Given the description of an element on the screen output the (x, y) to click on. 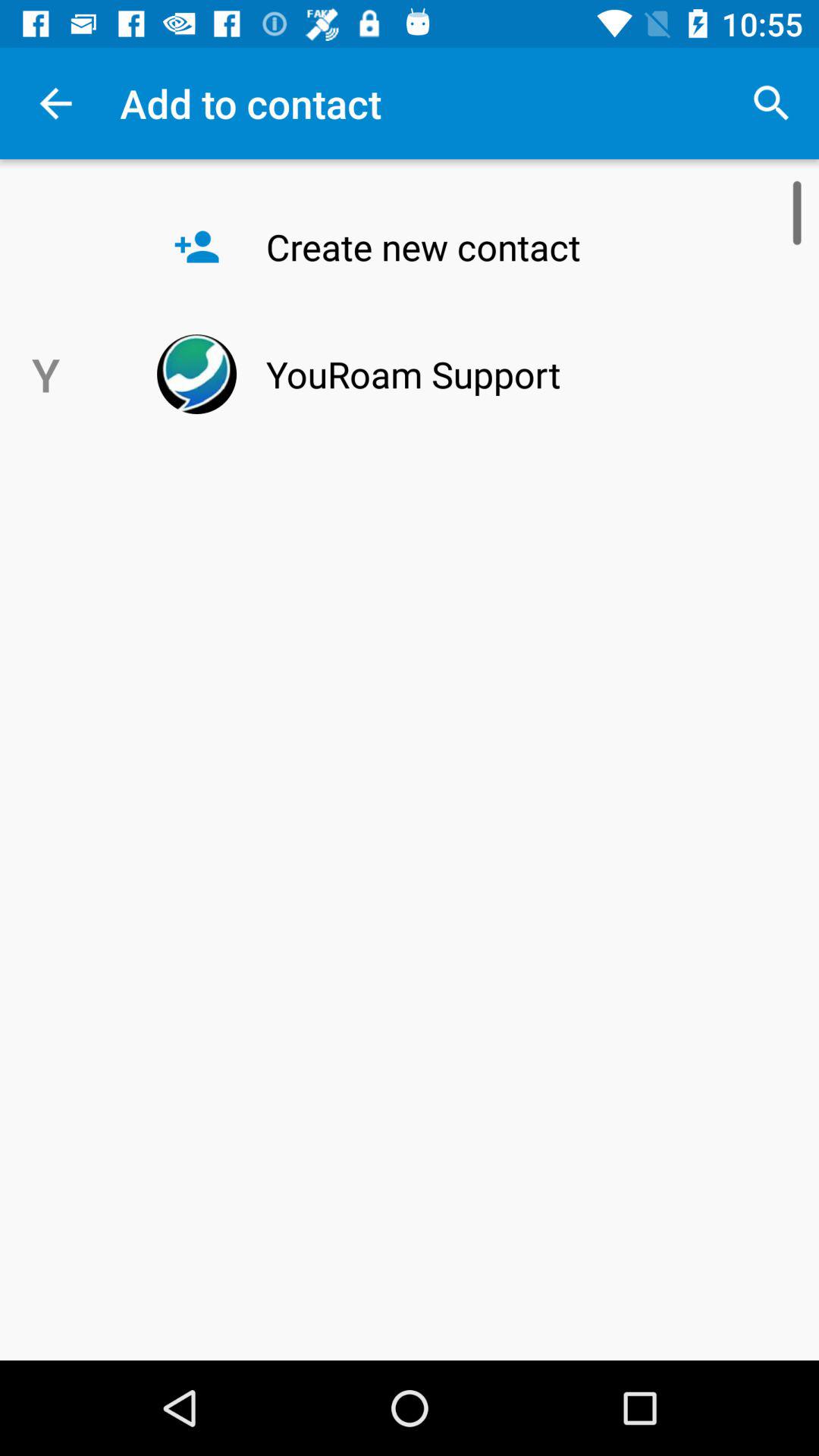
press the icon next to the add to contact (771, 103)
